Given the description of an element on the screen output the (x, y) to click on. 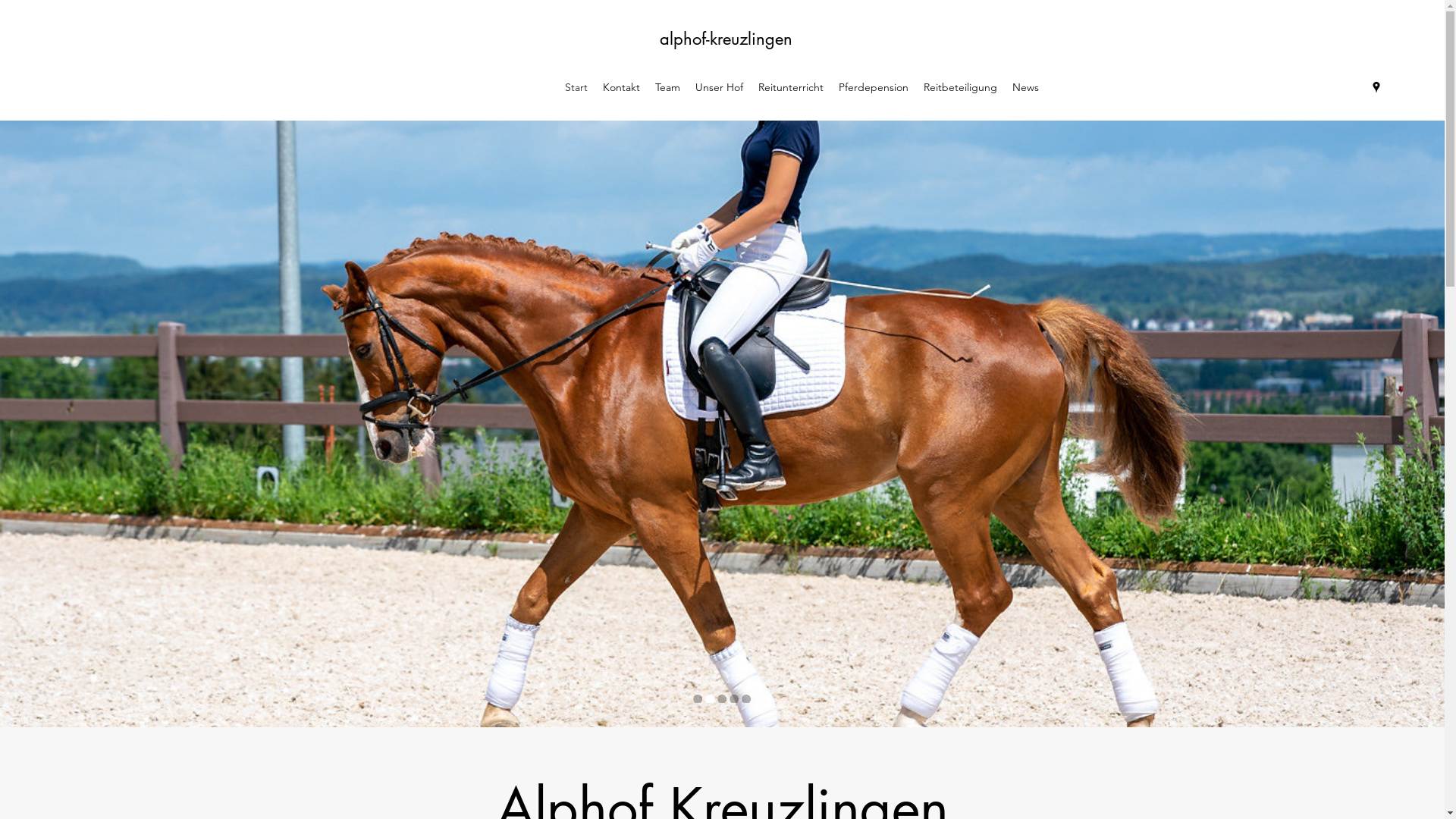
Unser Hof Element type: text (718, 86)
Kontakt Element type: text (621, 86)
Reitbeteiligung Element type: text (960, 86)
alphof-kreuzlingen Element type: text (725, 38)
Pferdepension Element type: text (873, 86)
News Element type: text (1025, 86)
Start Element type: text (576, 86)
Reitunterricht Element type: text (790, 86)
Team Element type: text (667, 86)
